Given the description of an element on the screen output the (x, y) to click on. 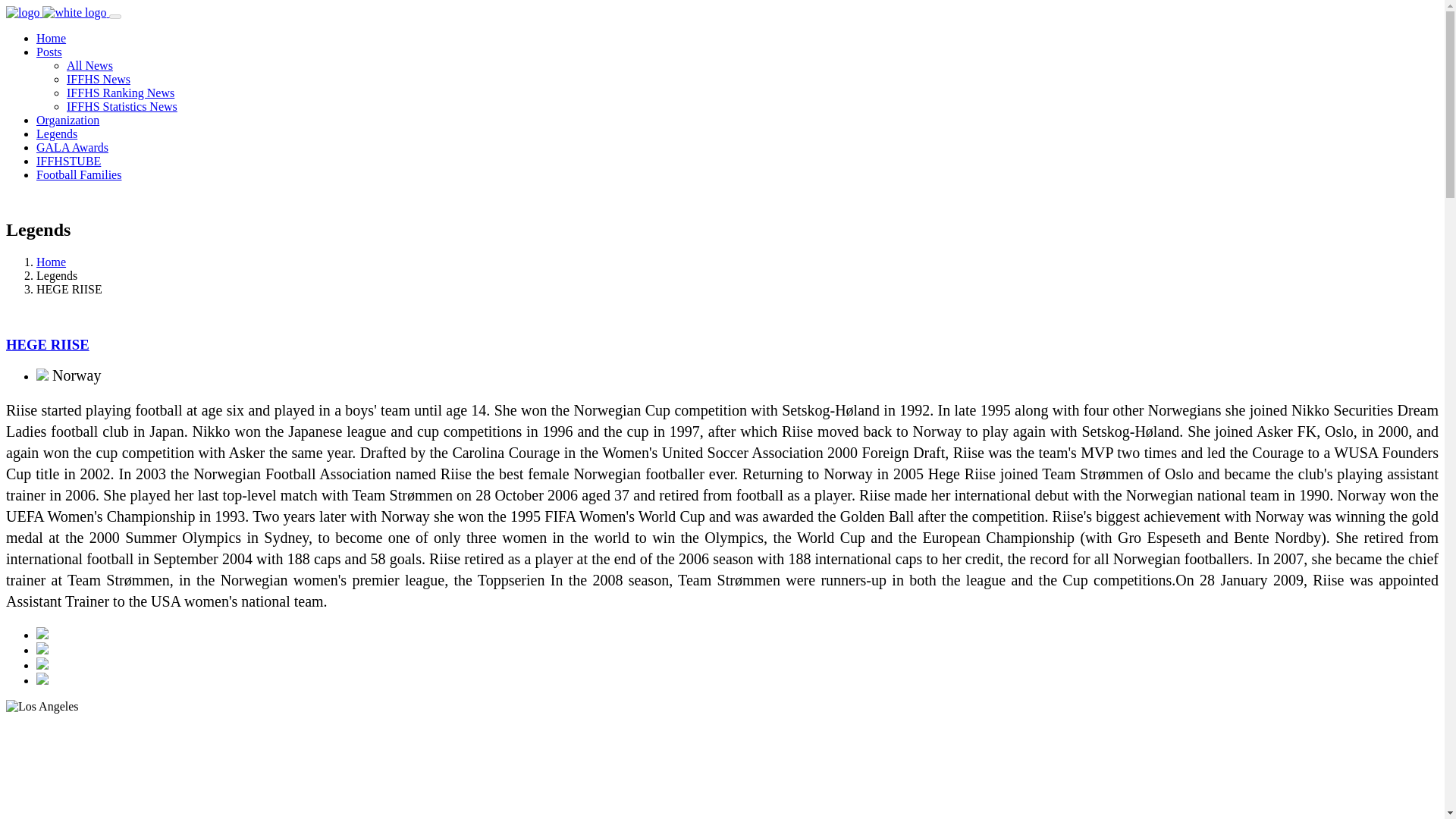
GALA Awards (71, 146)
Football Families (78, 174)
Organization (67, 119)
IFFHS Statistics News (121, 106)
IFFHS Ranking News (120, 92)
IFFHSTUBE (68, 160)
Posts (49, 51)
HEGE RIISE (46, 344)
Home (50, 261)
Home (50, 38)
All News (89, 65)
IFFHS News (98, 78)
Legends (56, 133)
